Given the description of an element on the screen output the (x, y) to click on. 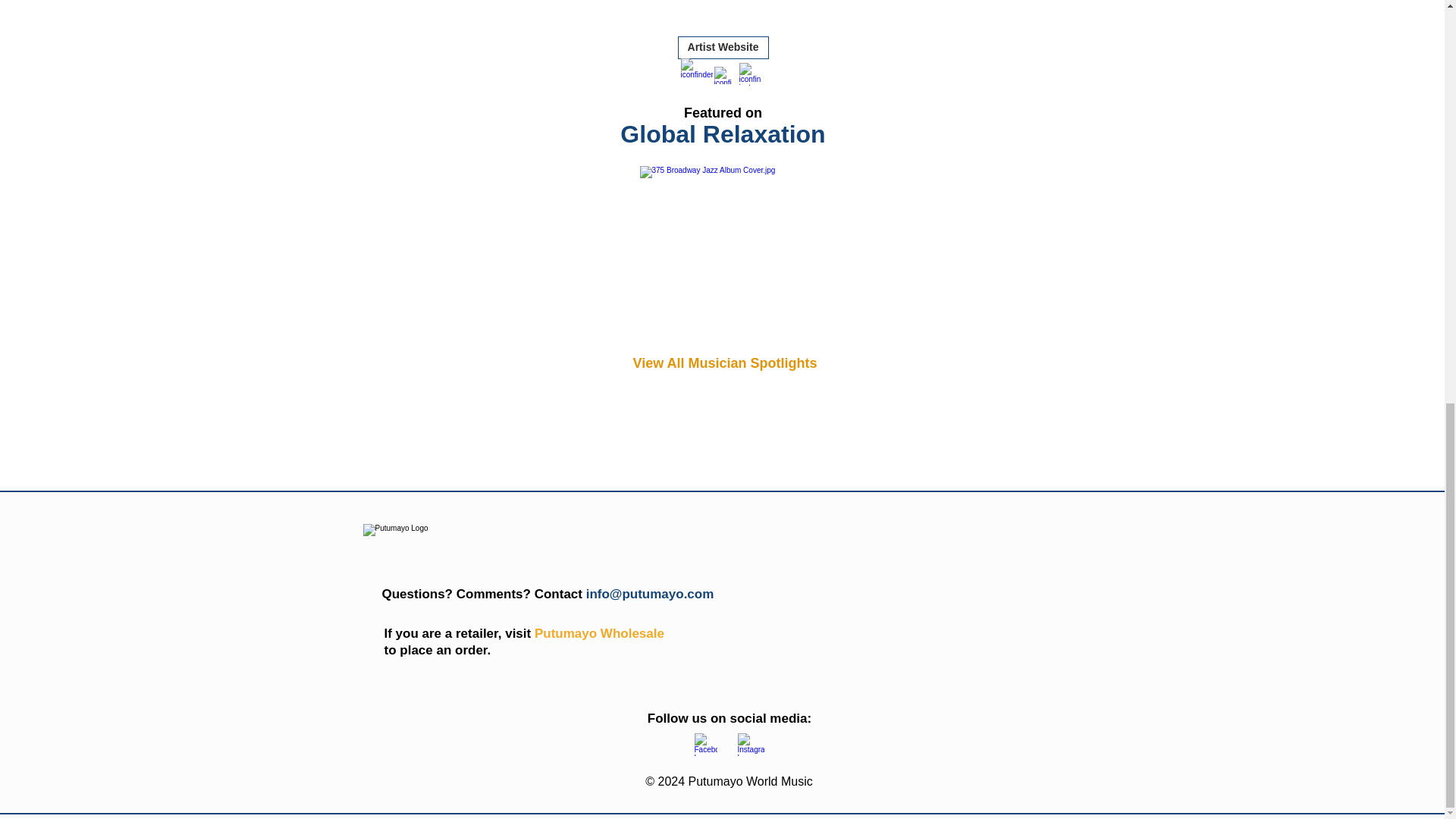
Follow us on social media: (728, 718)
Putumayo Wholesale (598, 633)
glorelax.jpg (723, 249)
Artist Website (723, 47)
Putumayo Facebook Logo.png (705, 744)
Putumayo Facebook Logo.png (749, 744)
View All Musician Spotlights (723, 363)
